Given the description of an element on the screen output the (x, y) to click on. 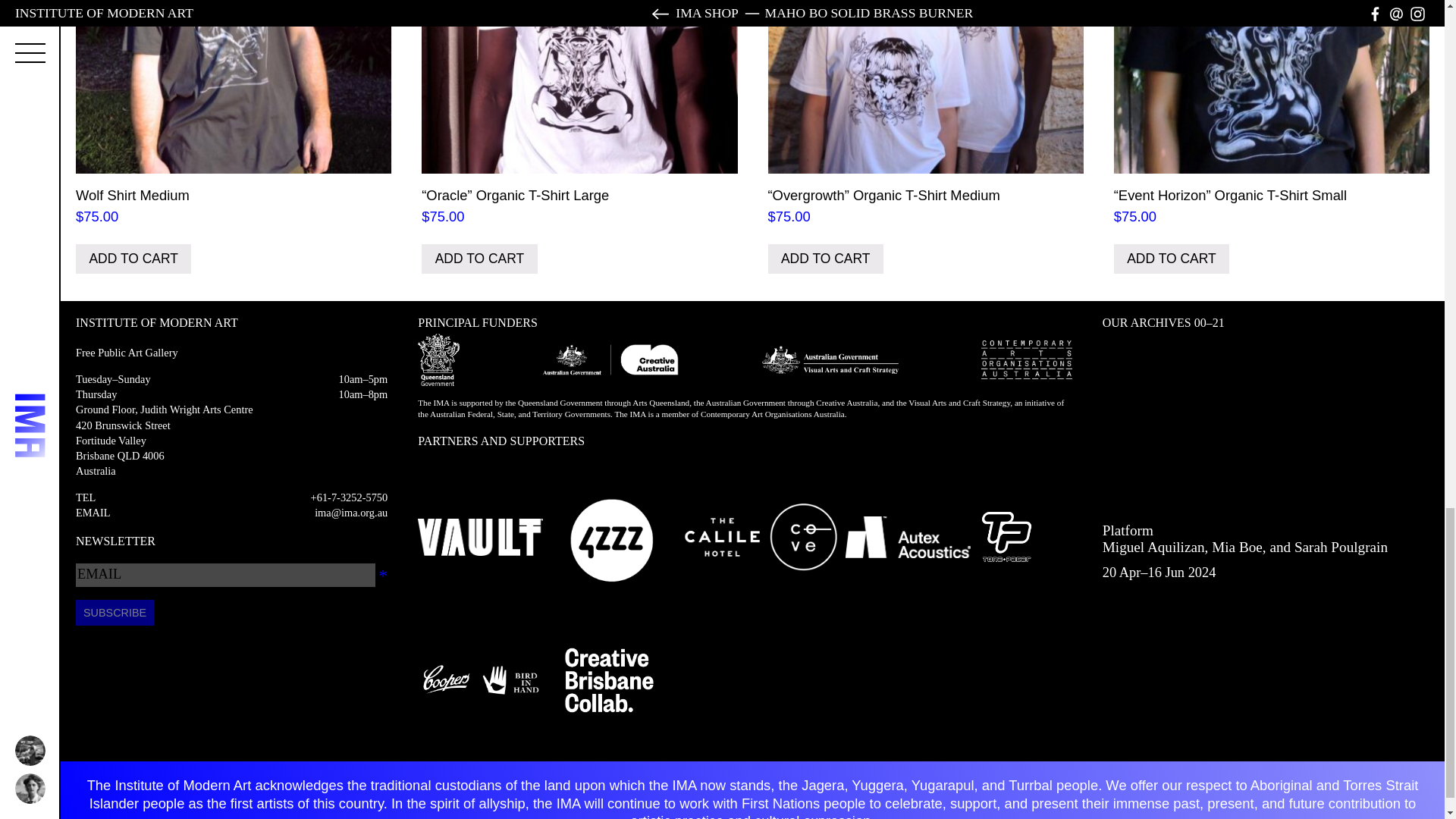
Subscribe (114, 612)
